Given the description of an element on the screen output the (x, y) to click on. 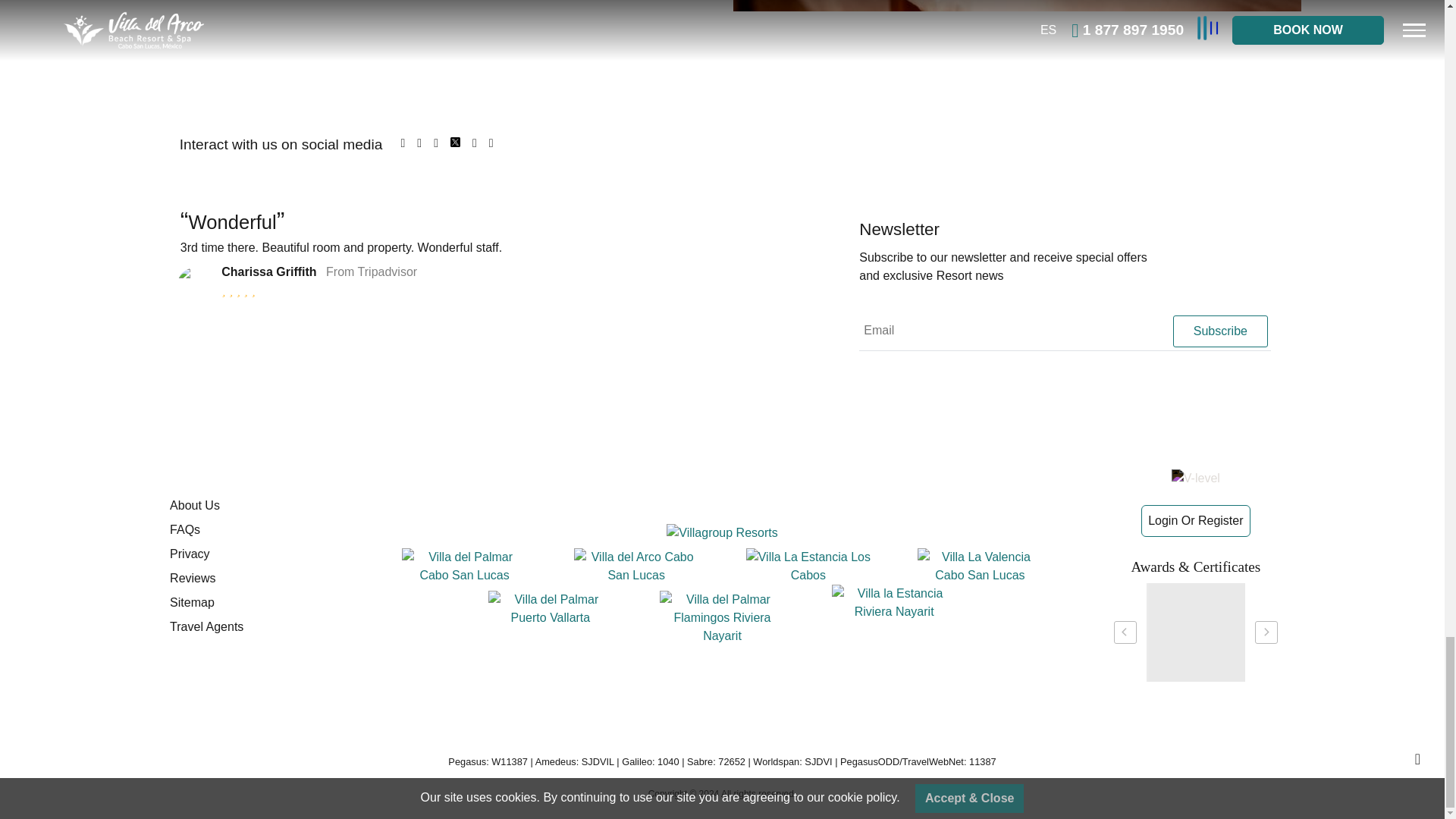
Privacy (261, 554)
Reviews (261, 578)
Villa La Estancia Los Cabos (807, 565)
Villagroup Resorts (721, 533)
Villa La Valencia Cabo San Lucas (979, 565)
Villa del Arco Cabo San Lucas (635, 565)
Sitemap (261, 602)
Subscribe (1220, 331)
FAQs (261, 529)
Relaxation And Wellbeing (1017, 5)
About Us (261, 505)
Villa del Palmar Cabo San Lucas (464, 565)
